Given the description of an element on the screen output the (x, y) to click on. 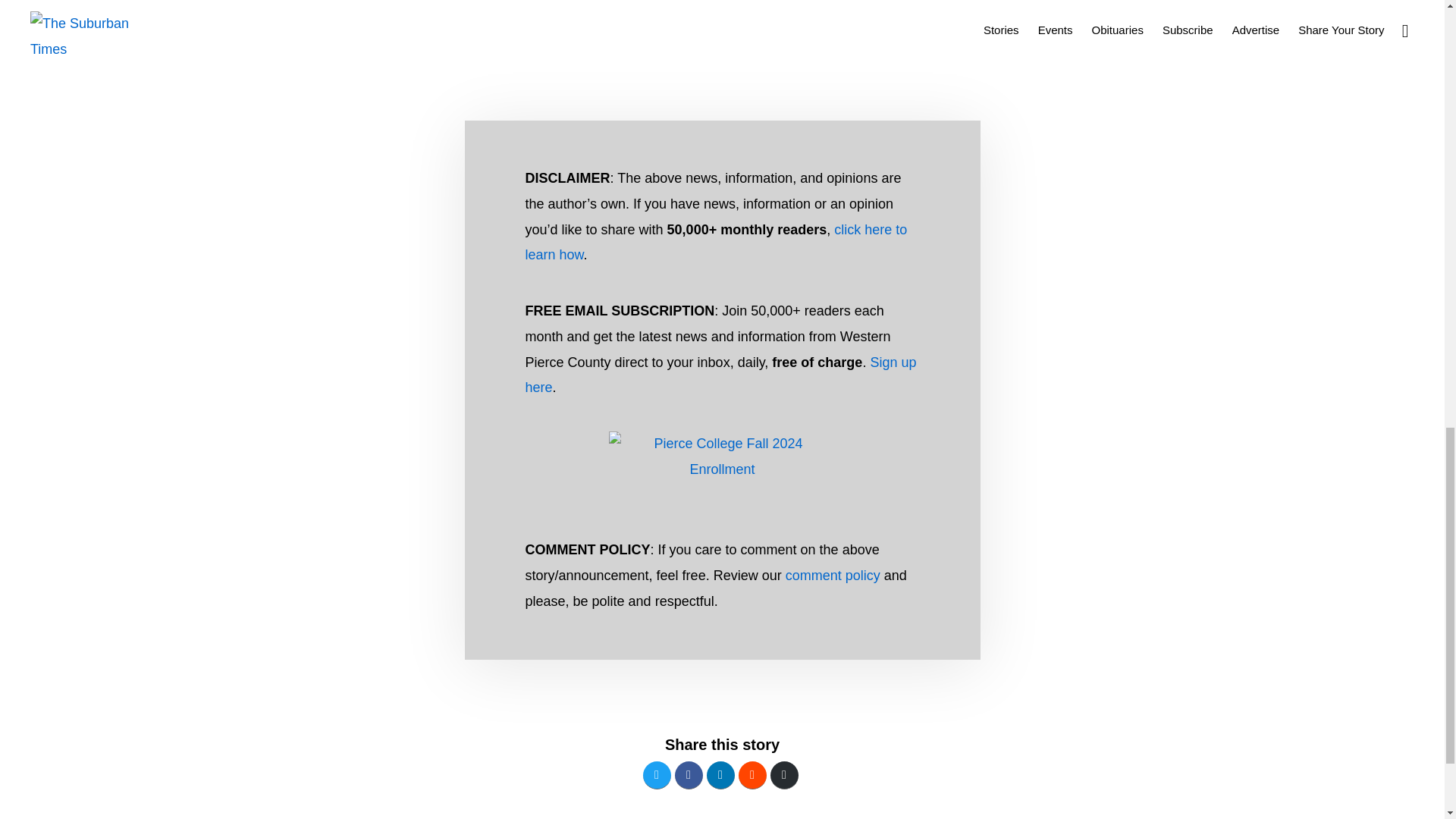
Share via Email (783, 775)
Share on Facebook (689, 775)
Share on Reddit (752, 775)
comment policy (833, 575)
Share on Twitter (657, 775)
purchased online (837, 2)
Share on Facebook (689, 775)
Sign up here (719, 374)
Share on LinkedIn (720, 775)
Share on Reddit (752, 775)
